Given the description of an element on the screen output the (x, y) to click on. 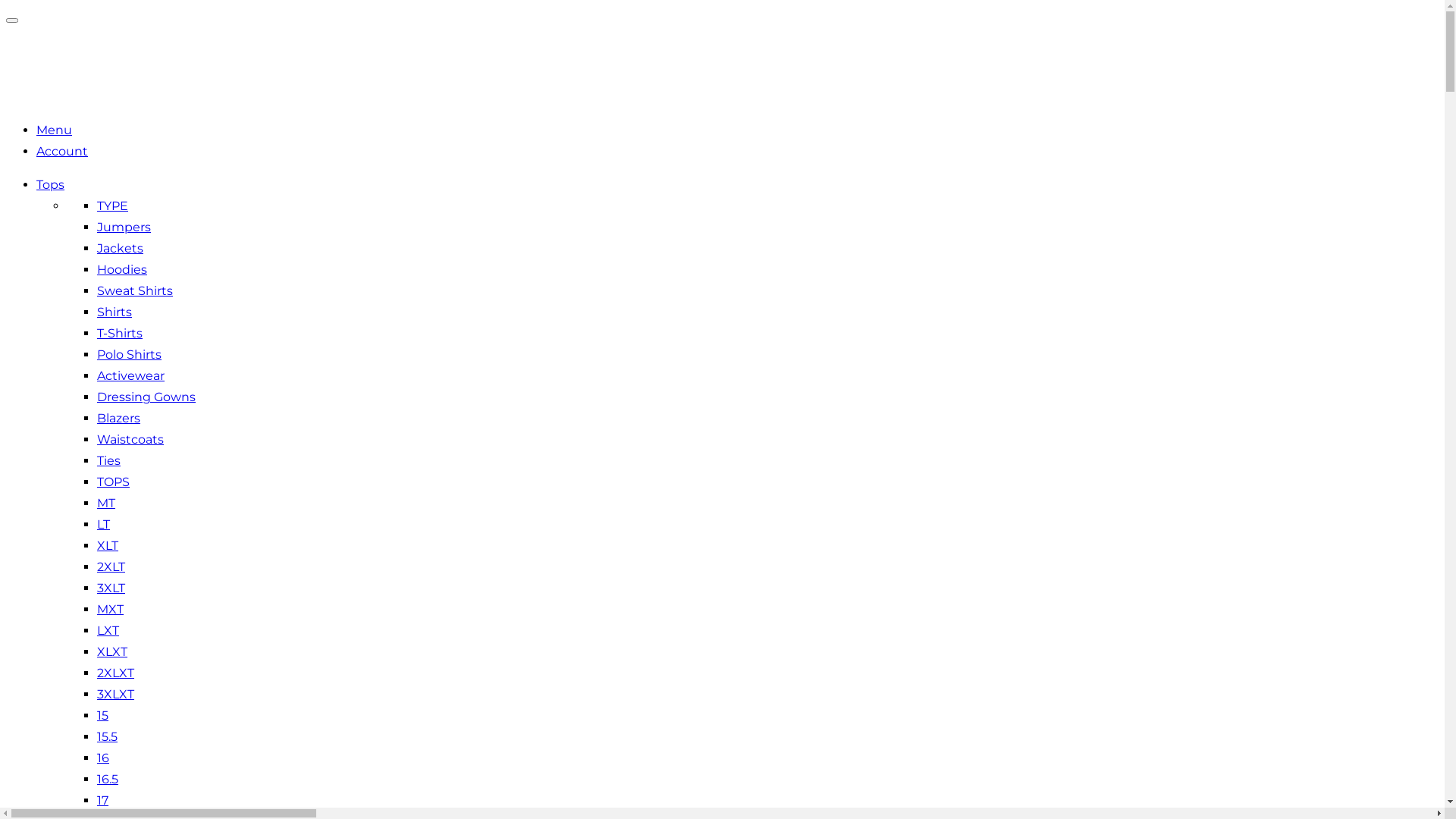
Account Element type: text (61, 151)
15.5 Element type: text (107, 736)
Shirts Element type: text (114, 311)
3XLT Element type: text (111, 587)
Sweat Shirts Element type: text (134, 290)
Waistcoats Element type: text (130, 439)
LXT Element type: text (108, 630)
Tops Element type: text (50, 184)
Blazers Element type: text (118, 418)
TYPE Element type: text (112, 205)
MT Element type: text (106, 502)
2tall.com Element type: hover (66, 71)
Menu Element type: text (54, 129)
Dressing Gowns Element type: text (146, 396)
MXT Element type: text (110, 609)
Jackets Element type: text (120, 248)
16 Element type: text (103, 757)
16.5 Element type: text (107, 778)
3XLXT Element type: text (115, 694)
Hoodies Element type: text (122, 269)
Ties Element type: text (108, 460)
15 Element type: text (102, 715)
LT Element type: text (103, 524)
XLXT Element type: text (112, 651)
XLT Element type: text (107, 545)
17 Element type: text (102, 800)
Jumpers Element type: text (123, 226)
Polo Shirts Element type: text (129, 354)
2tall.com Element type: hover (49, 96)
2XLXT Element type: text (115, 672)
TOPS Element type: text (113, 481)
Activewear Element type: text (130, 375)
2XLT Element type: text (111, 566)
T-Shirts Element type: text (119, 333)
